Given the description of an element on the screen output the (x, y) to click on. 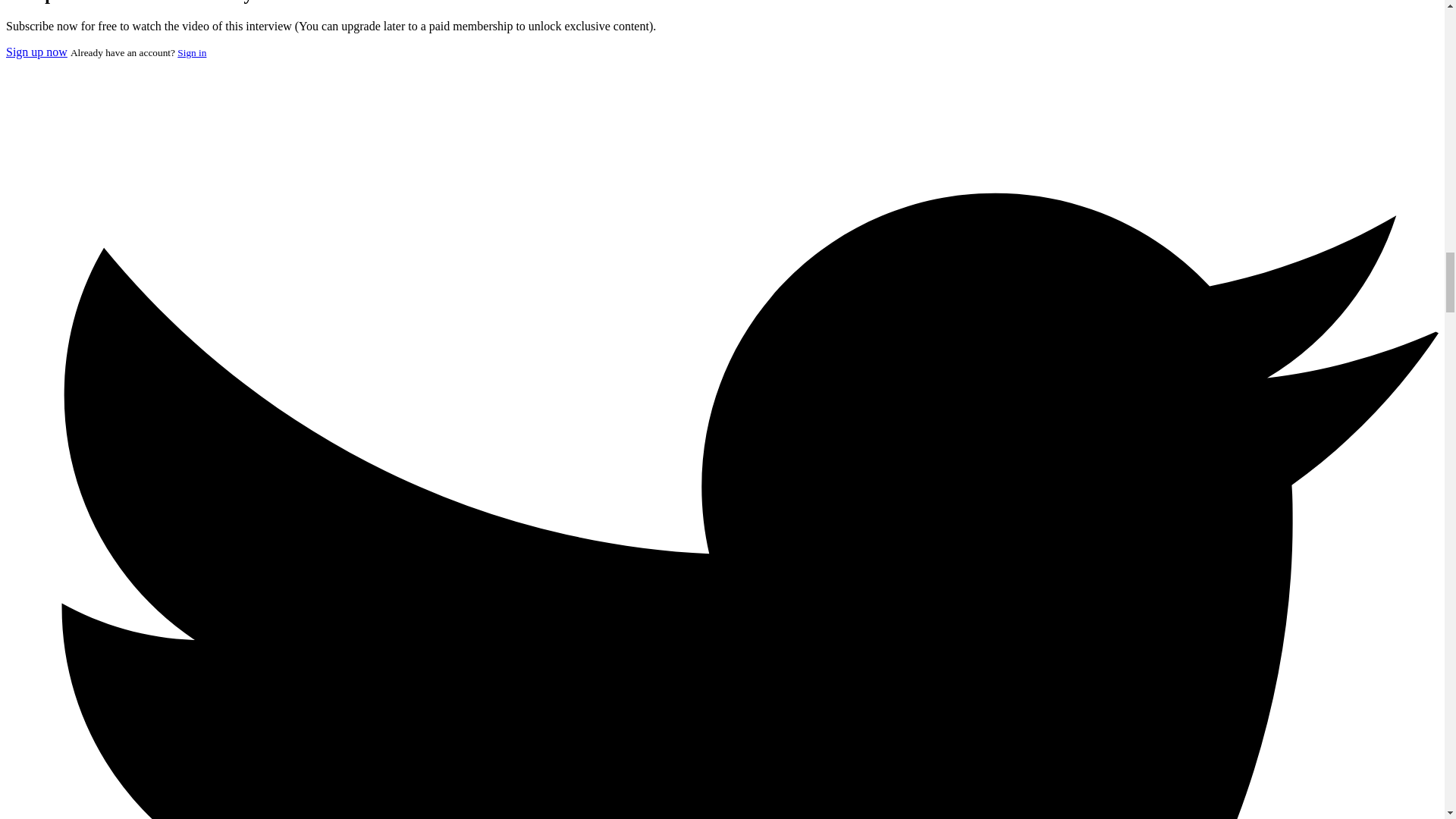
Sign in (191, 52)
Sign up now (35, 51)
